Given the description of an element on the screen output the (x, y) to click on. 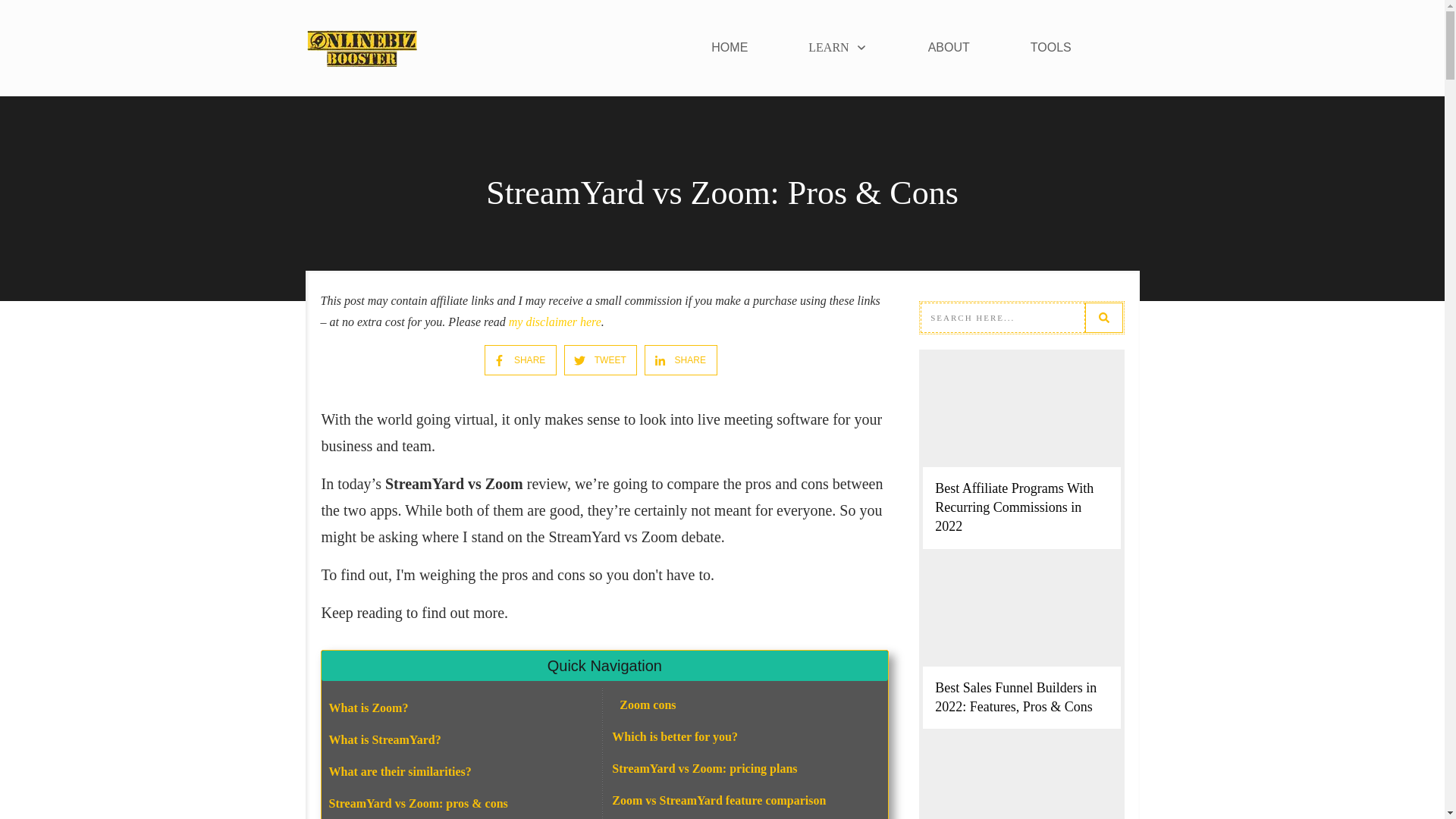
StreamYard vs Zoom: pricing plans (703, 768)
my disclaimer here (554, 321)
SHARE (674, 359)
Zoom cons (647, 704)
Best Affiliate Programs With Recurring Commissions in 2022 (1013, 506)
LEARN (837, 47)
ABOUT (948, 47)
What are their similarities? (400, 771)
HOME (729, 47)
TWEET (593, 359)
